Given the description of an element on the screen output the (x, y) to click on. 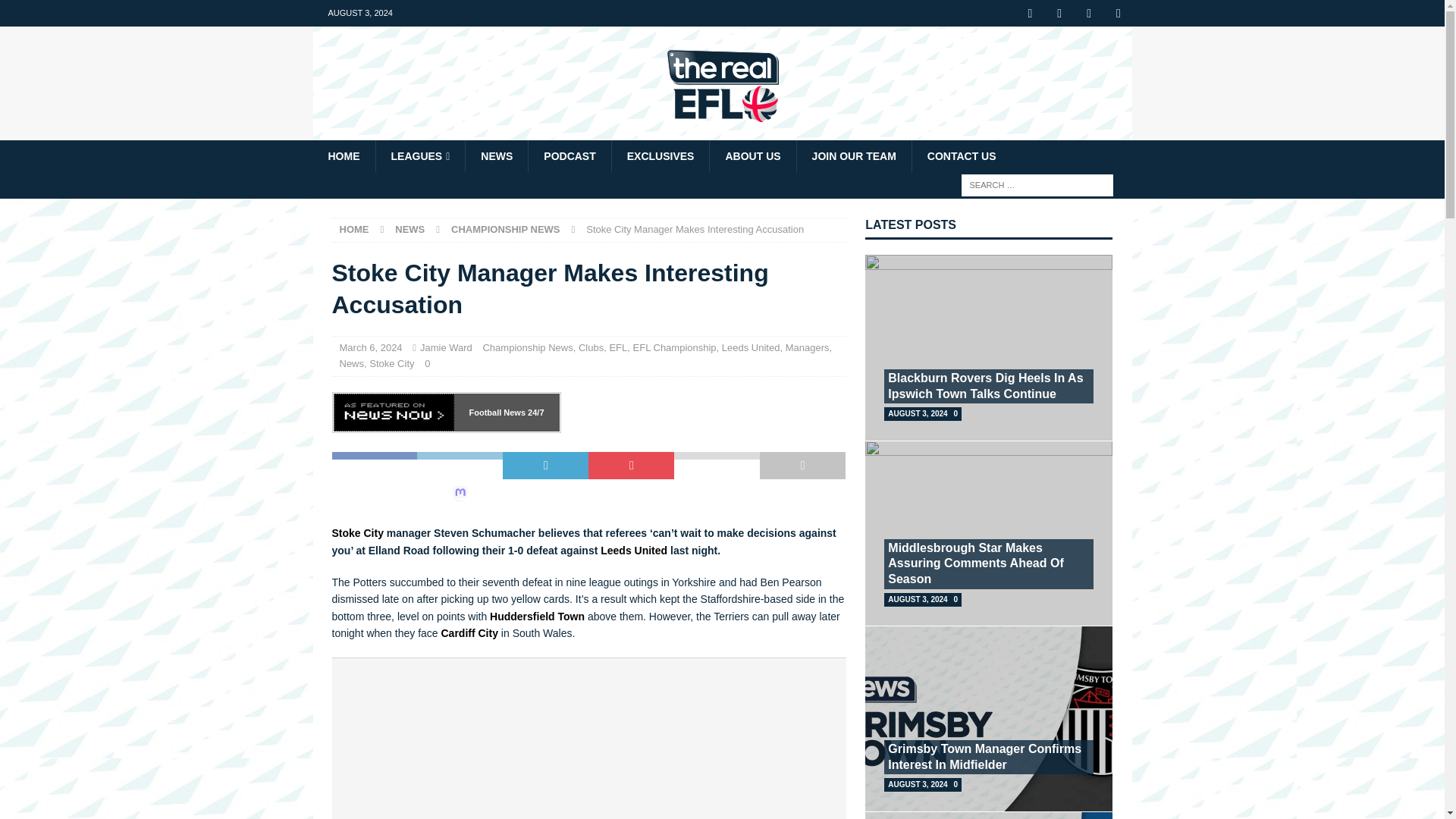
Click here for more Football news from NewsNow (534, 411)
HOME (343, 155)
Clubs (591, 347)
Championship News (505, 229)
NEWS (495, 155)
LEAGUES (419, 155)
Managers (807, 347)
EXCLUSIVES (660, 155)
CHAMPIONSHIP NEWS (505, 229)
HOME (354, 229)
NEWS (409, 229)
Search (56, 11)
Jamie Ward (445, 347)
The Real EFL (722, 132)
EFL Championship (674, 347)
